Given the description of an element on the screen output the (x, y) to click on. 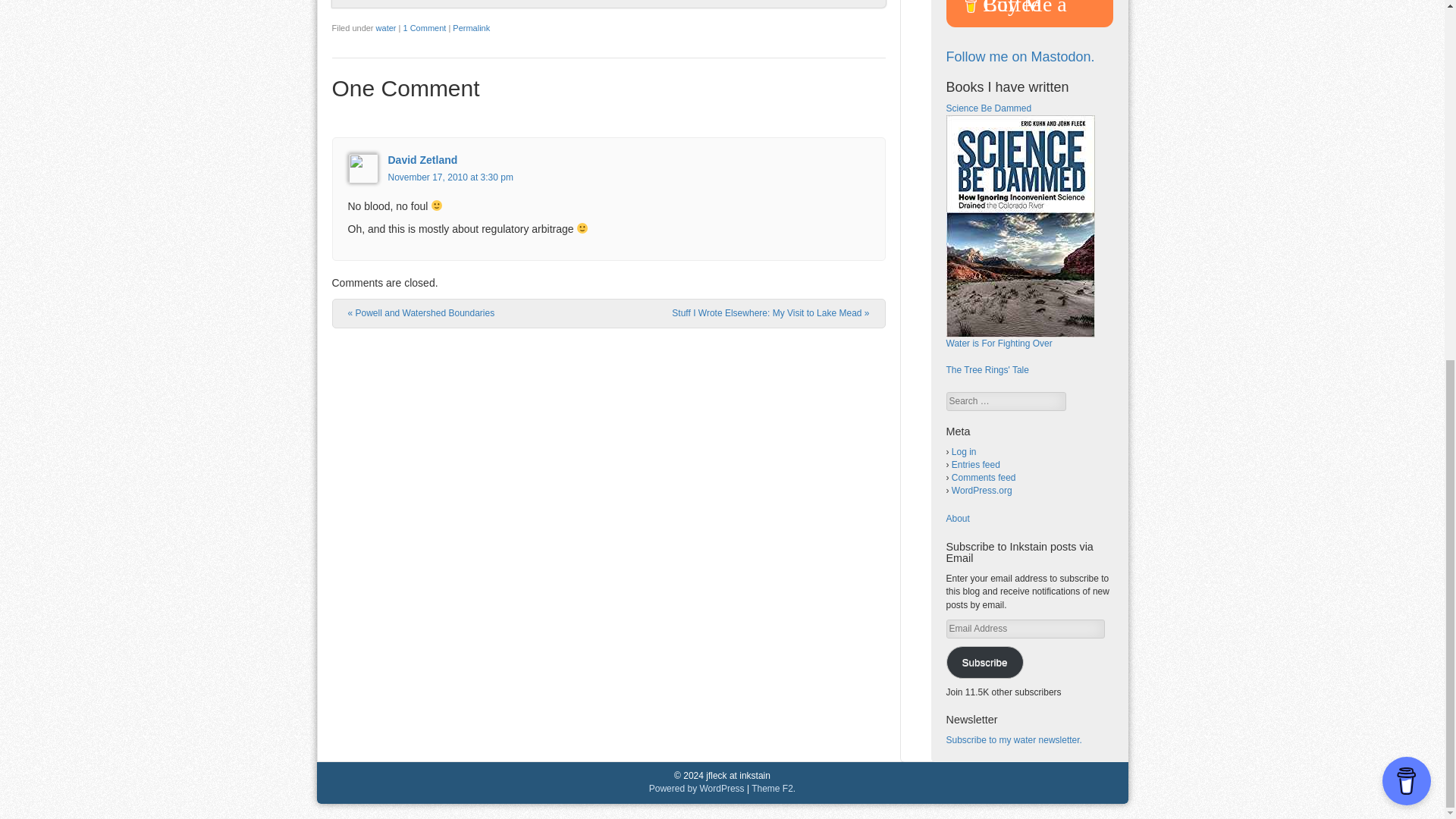
WordPress.org (981, 490)
Log in (964, 451)
Permanent Link to Mexican Desal (470, 27)
1 Comment (424, 27)
Entries feed (976, 464)
Subscribe (984, 662)
water (385, 27)
A Semantic Personal Publishing Platform (696, 787)
November 17, 2010 at 3:30 pm (450, 176)
Science Be Dammed (989, 108)
Powered by WordPress (696, 787)
Permalink (470, 27)
Comments feed (984, 477)
Permalink to About (957, 518)
Subscribe to my water newsletter. (1013, 739)
